Given the description of an element on the screen output the (x, y) to click on. 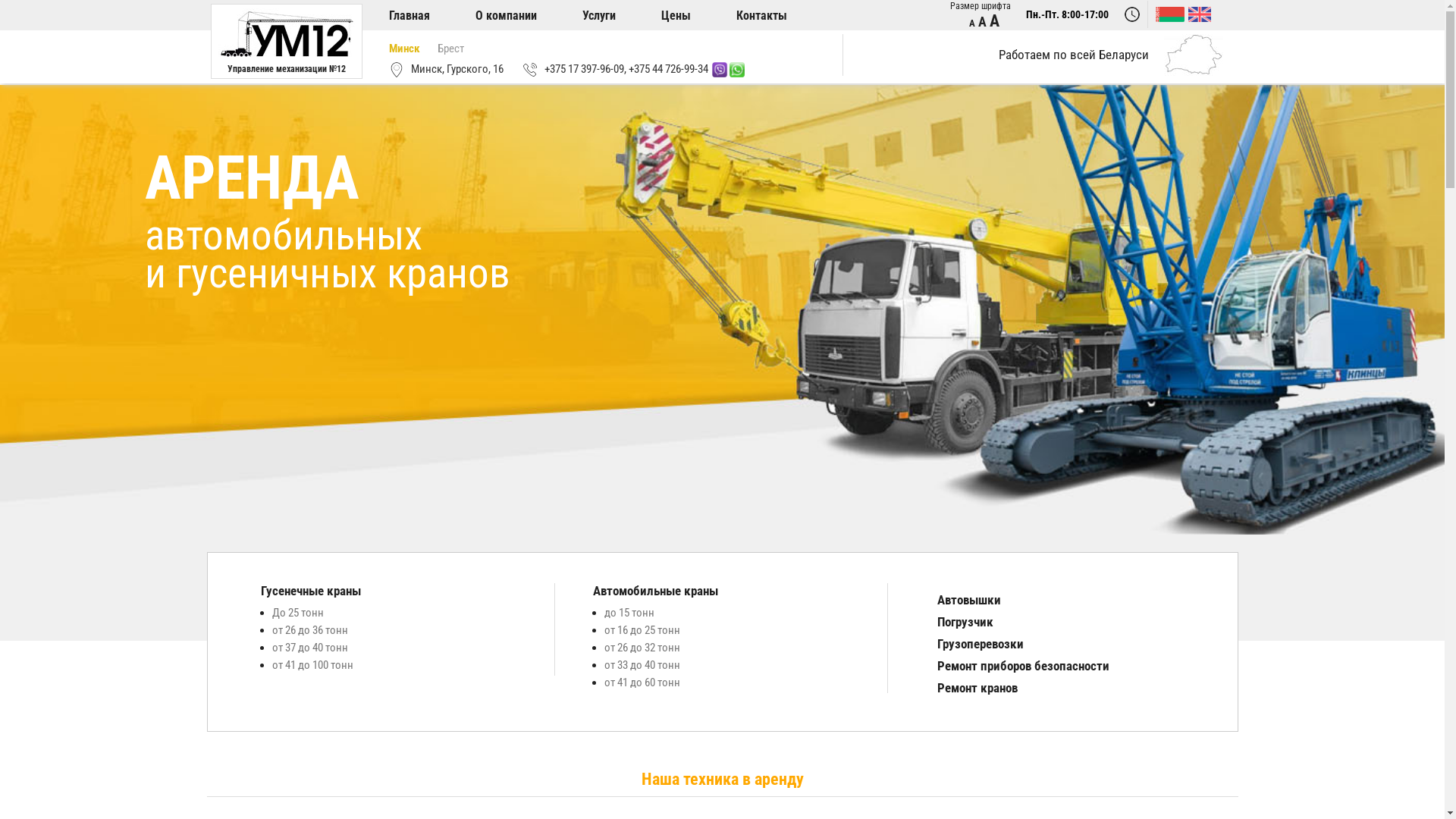
A Element type: text (972, 22)
A Element type: text (982, 21)
A Element type: text (993, 20)
